Given the description of an element on the screen output the (x, y) to click on. 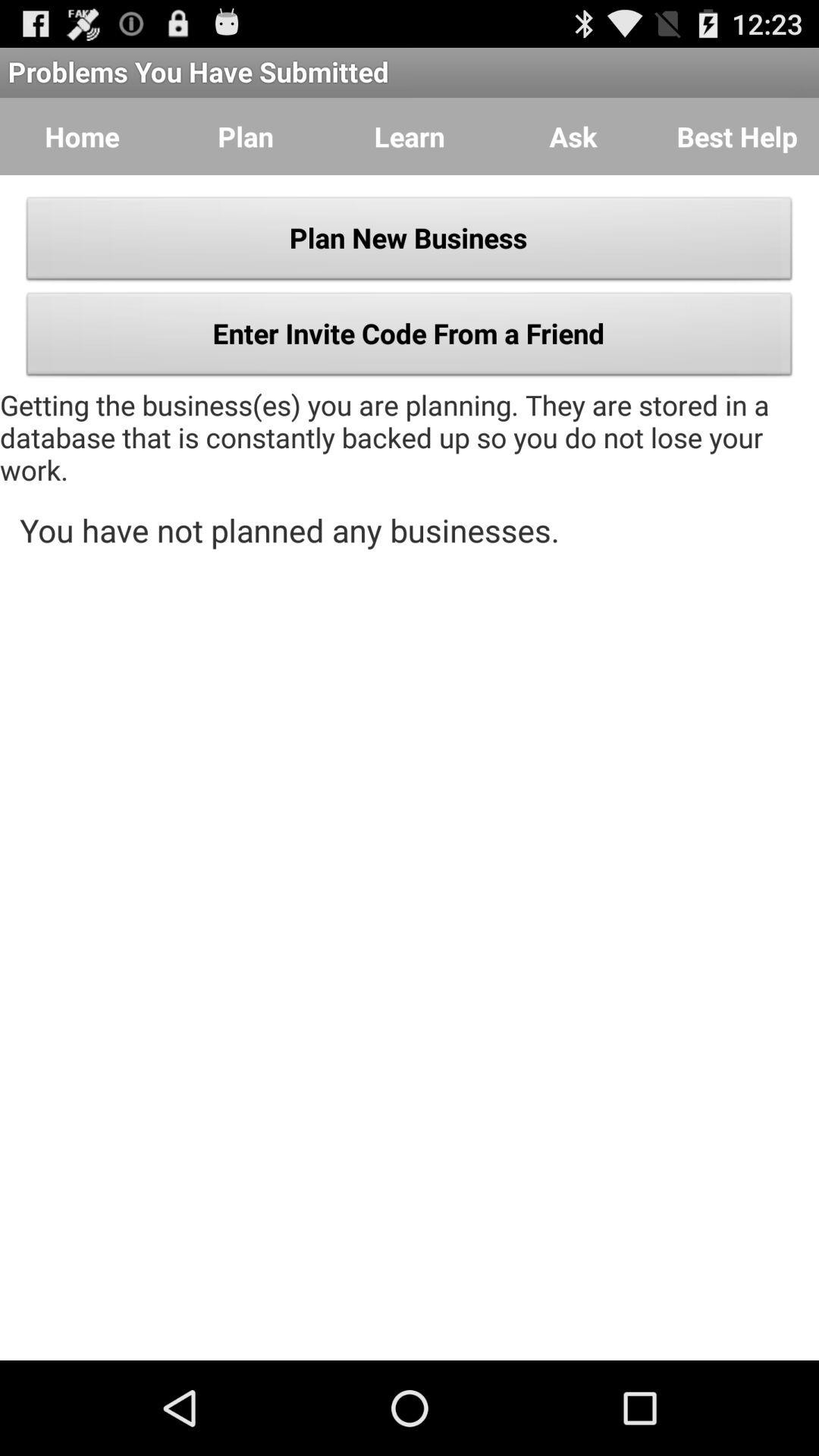
tap the item below problems you have (573, 136)
